Given the description of an element on the screen output the (x, y) to click on. 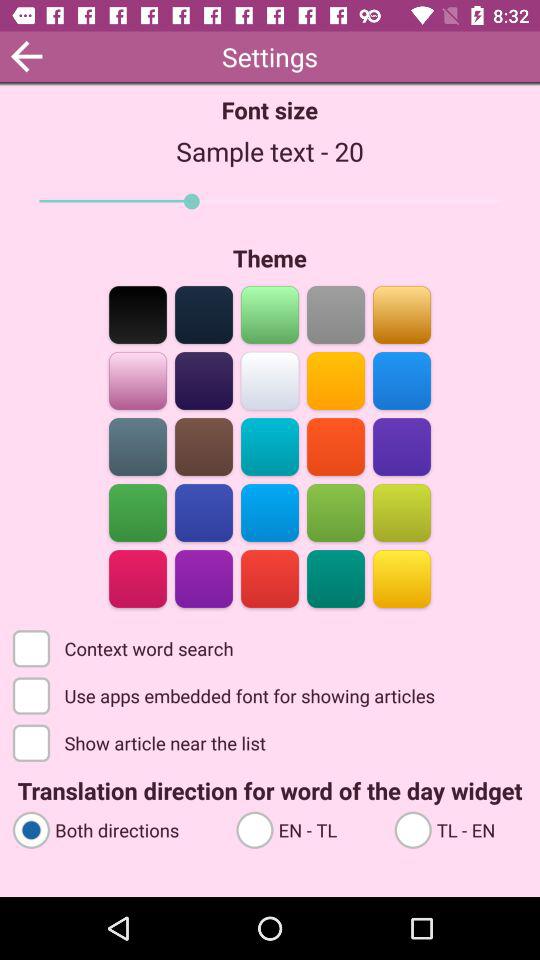
color scheme selection (335, 313)
